Given the description of an element on the screen output the (x, y) to click on. 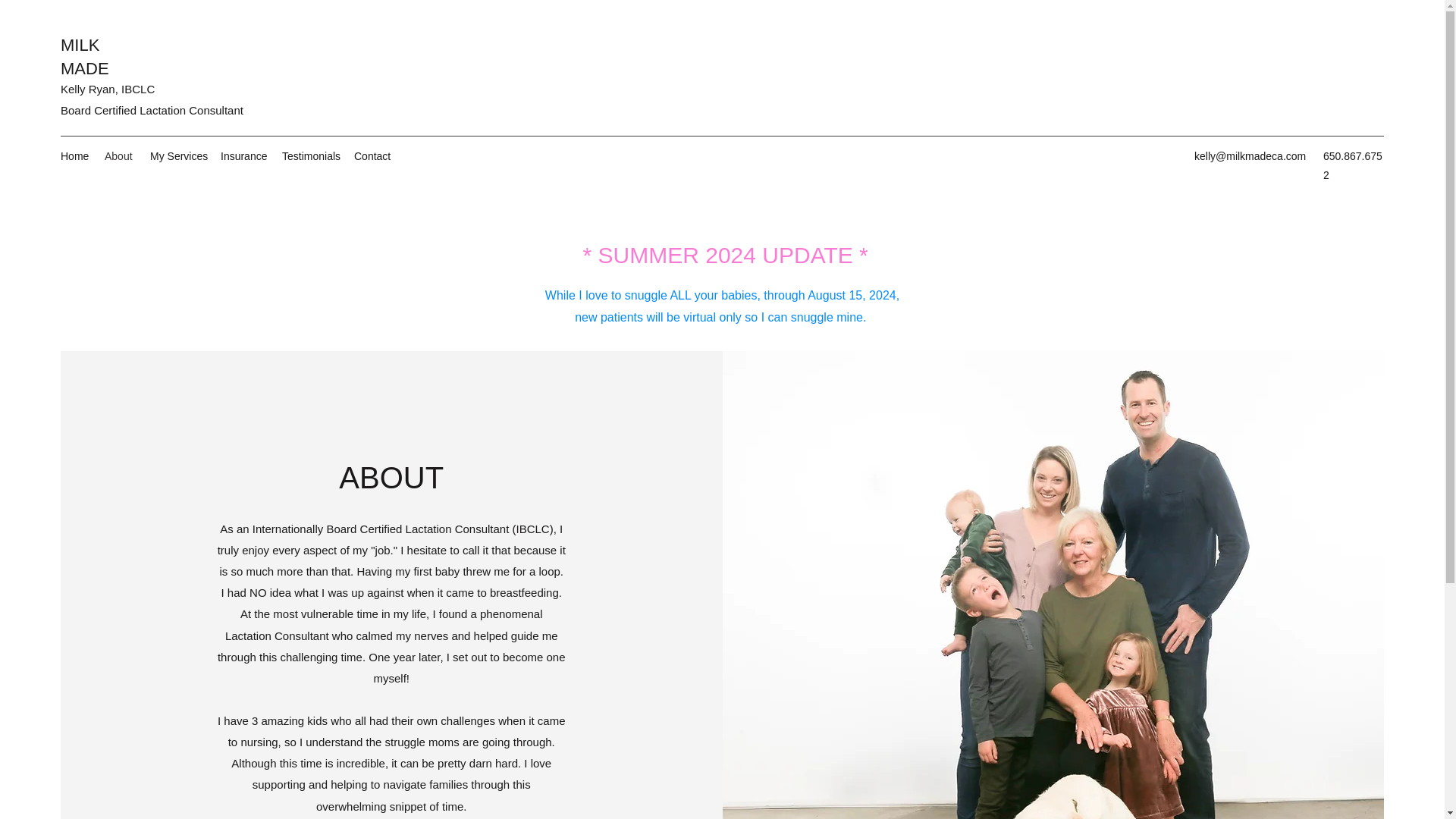
Contact (372, 155)
Home (74, 155)
Insurance (243, 155)
MILK MADE (85, 56)
Testimonials (310, 155)
About (119, 155)
My Services (177, 155)
